Given the description of an element on the screen output the (x, y) to click on. 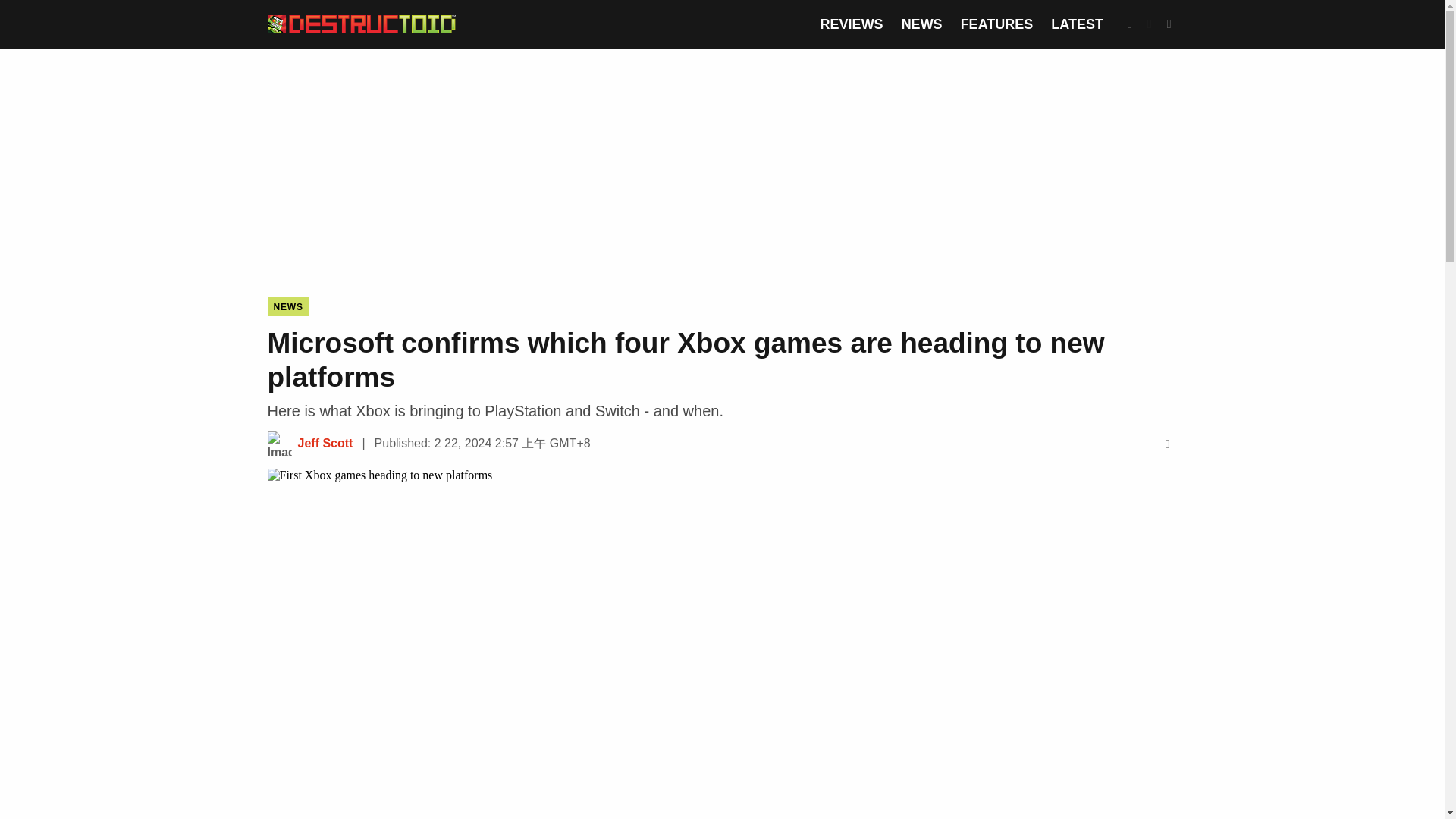
FEATURES (996, 23)
NEWS (921, 23)
NEWS (287, 306)
LATEST (1077, 23)
REVIEWS (852, 23)
